Given the description of an element on the screen output the (x, y) to click on. 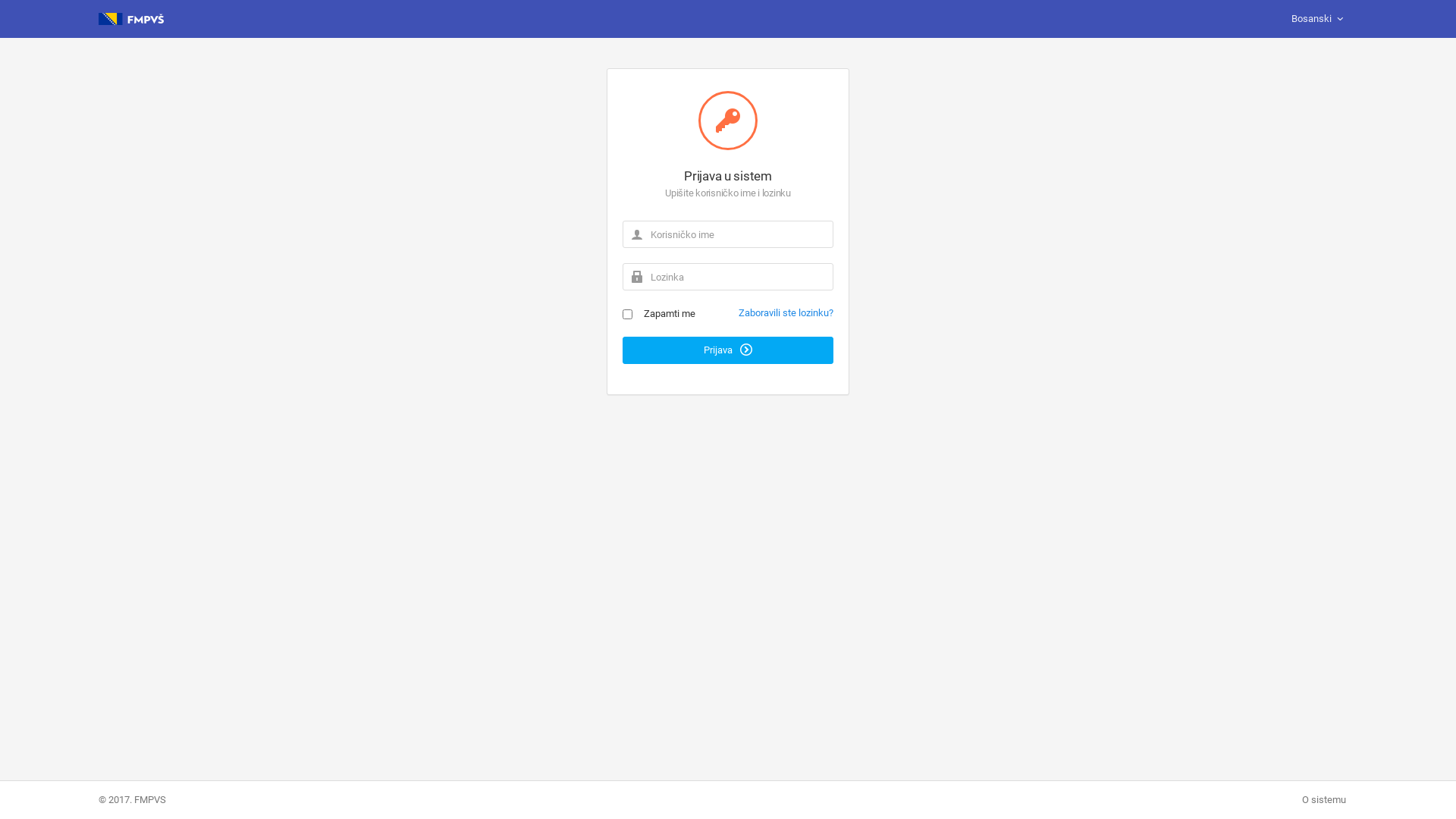
Bosanski Element type: text (1318, 18)
Prijava Element type: text (727, 350)
Zaboravili ste lozinku? Element type: text (785, 312)
